Given the description of an element on the screen output the (x, y) to click on. 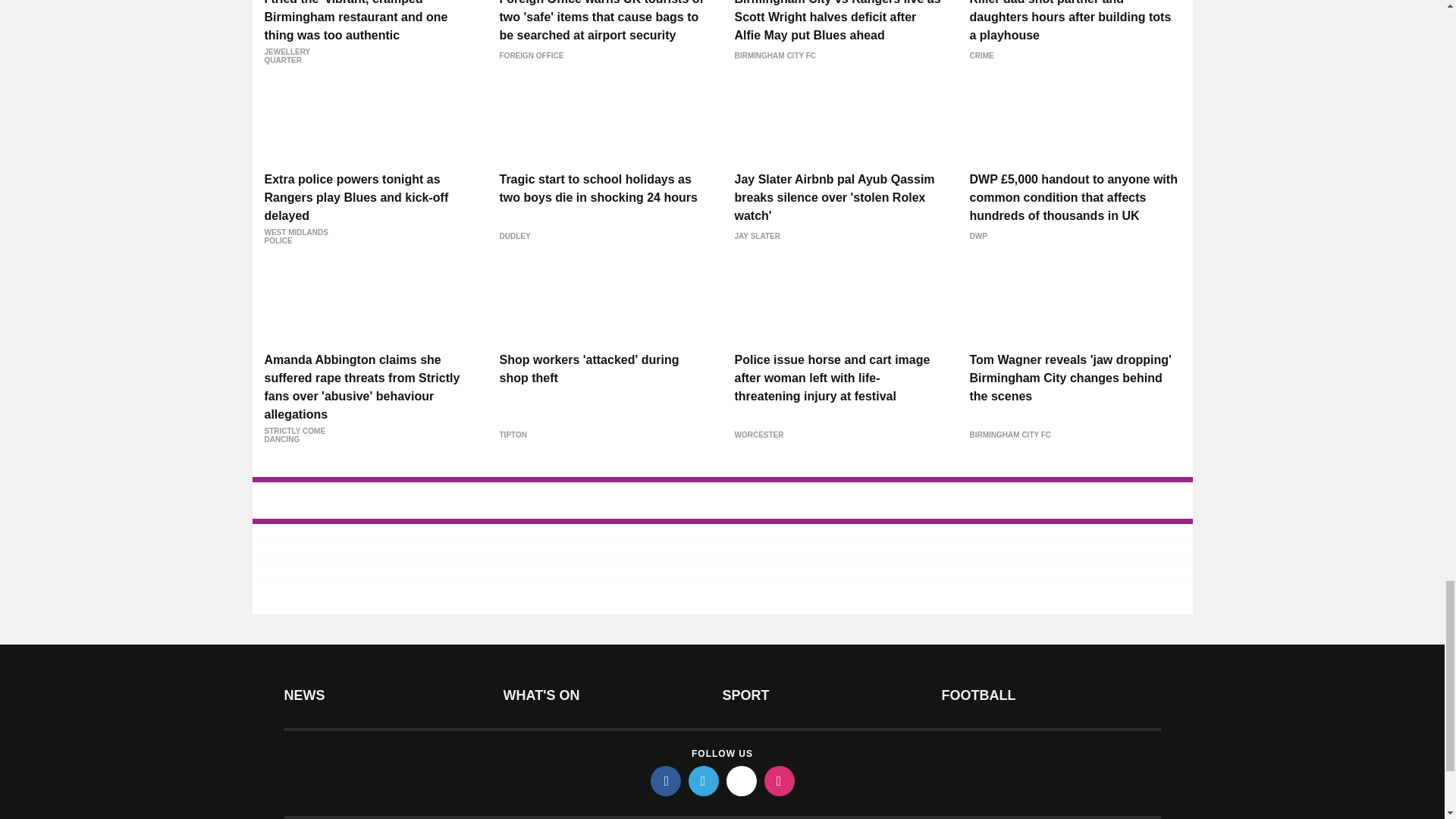
tiktok (741, 780)
twitter (703, 780)
facebook (665, 780)
instagram (779, 780)
